Given the description of an element on the screen output the (x, y) to click on. 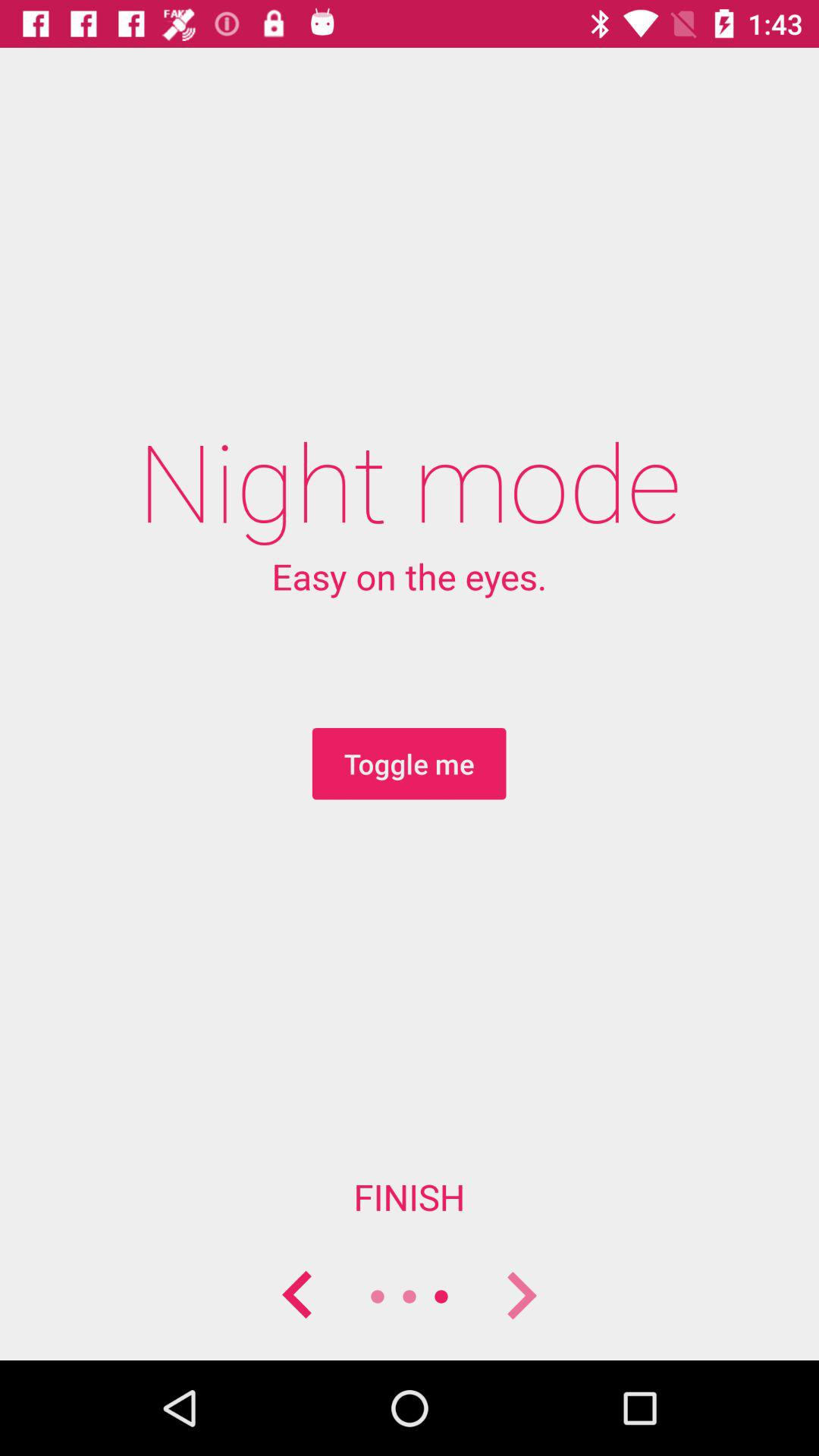
advance screen (520, 1296)
